Given the description of an element on the screen output the (x, y) to click on. 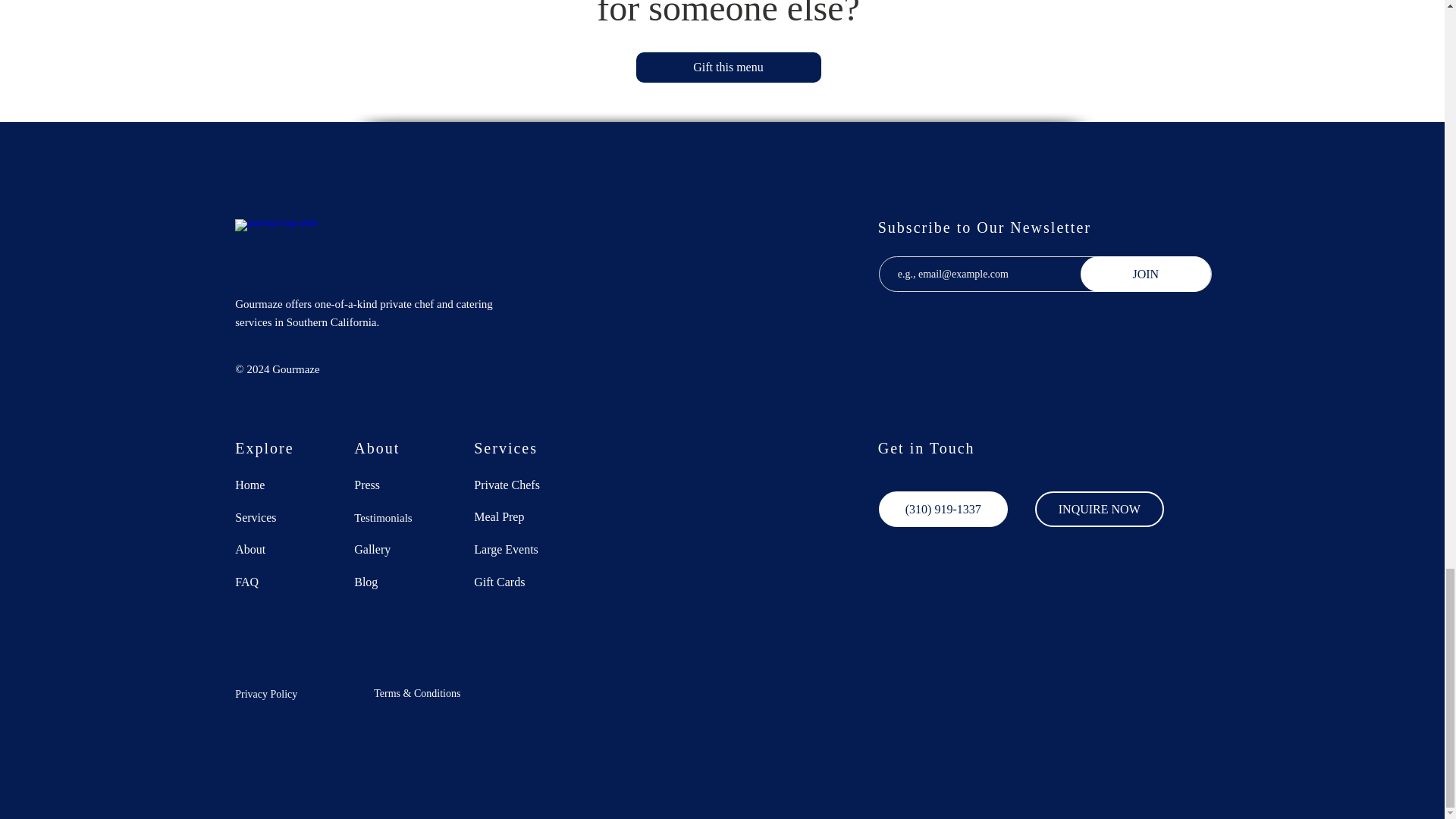
Large Events (517, 548)
Get in Touch (926, 447)
Home (277, 484)
INQUIRE NOW (1099, 509)
Gift this menu (727, 67)
FAQ (277, 581)
Meal Prep (517, 516)
JOIN (1145, 273)
Press (397, 484)
Private Chefs (517, 484)
Privacy Policy (293, 693)
Testimonials (397, 517)
Services (277, 517)
Gift Cards (517, 581)
Blog (397, 581)
